Given the description of an element on the screen output the (x, y) to click on. 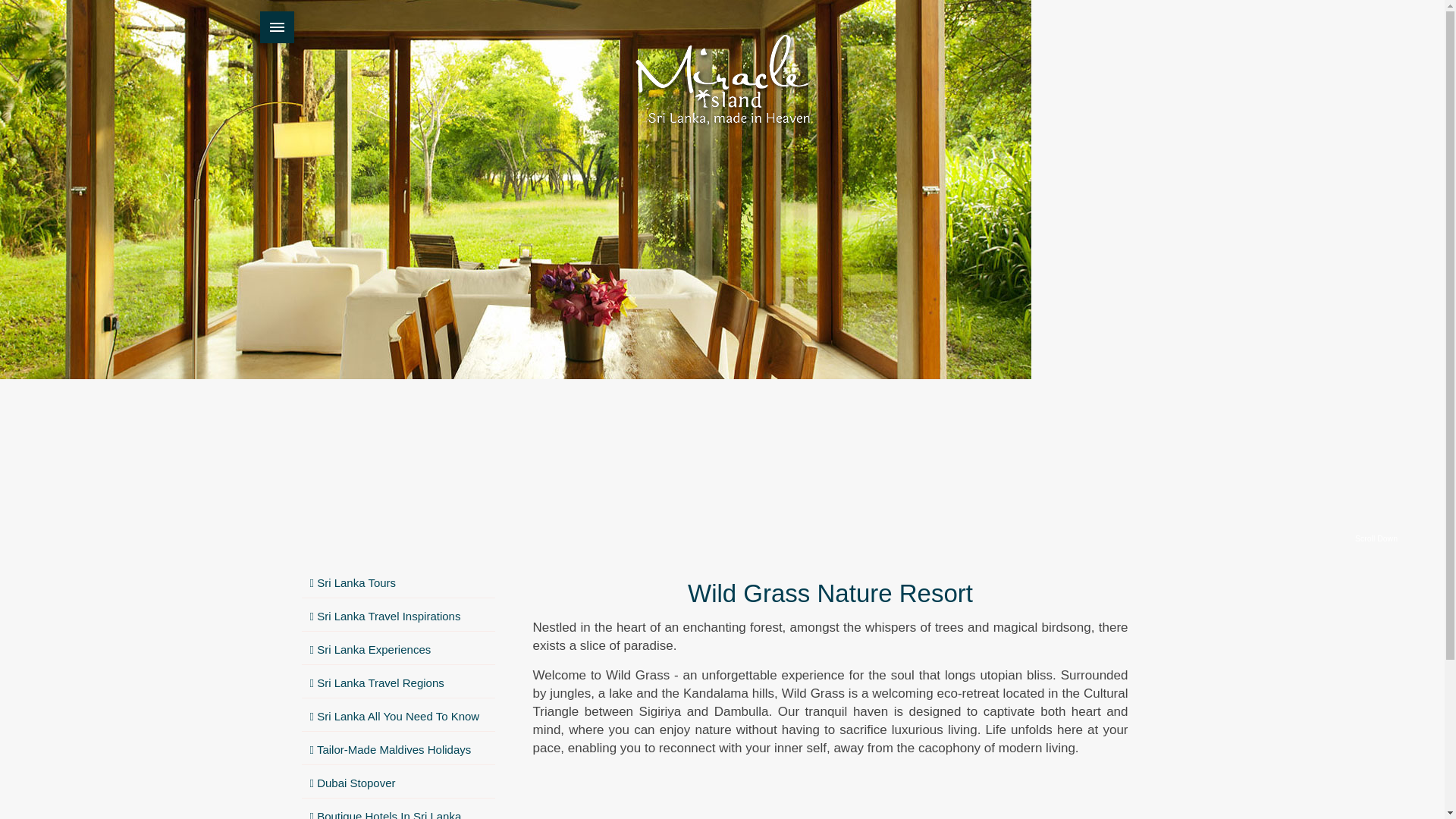
Sri Lanka Tours (398, 583)
Sri Lanka Travel Regions (398, 683)
Sri Lanka Travel Inspirations (398, 616)
Boutique Hotels In Sri Lanka (398, 810)
Dubai Stopover (398, 783)
Sri Lanka Experiences (398, 650)
Tailor-Made Maldives Holidays (398, 749)
Sri Lanka All You Need To Know (398, 716)
